Given the description of an element on the screen output the (x, y) to click on. 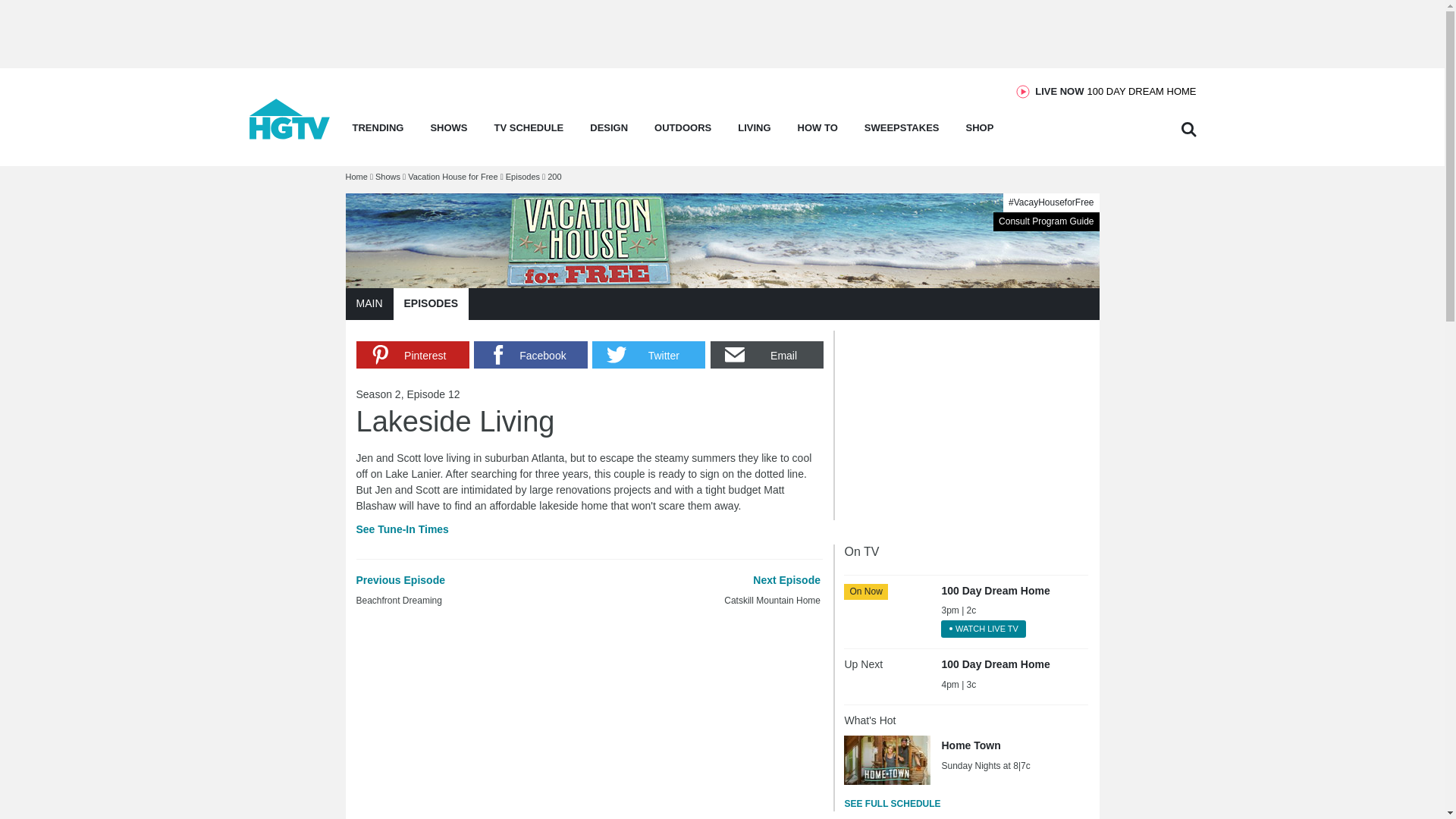
Share by Email (767, 354)
TV SCHEDULE (529, 132)
Share on Pinterest (412, 354)
3rd party ad content (957, 425)
SHOWS (448, 132)
home (289, 135)
Share on Facebook (530, 354)
Share on Twitter (648, 354)
TRENDING (377, 132)
3rd party ad content (721, 33)
Home Town (887, 759)
